Given the description of an element on the screen output the (x, y) to click on. 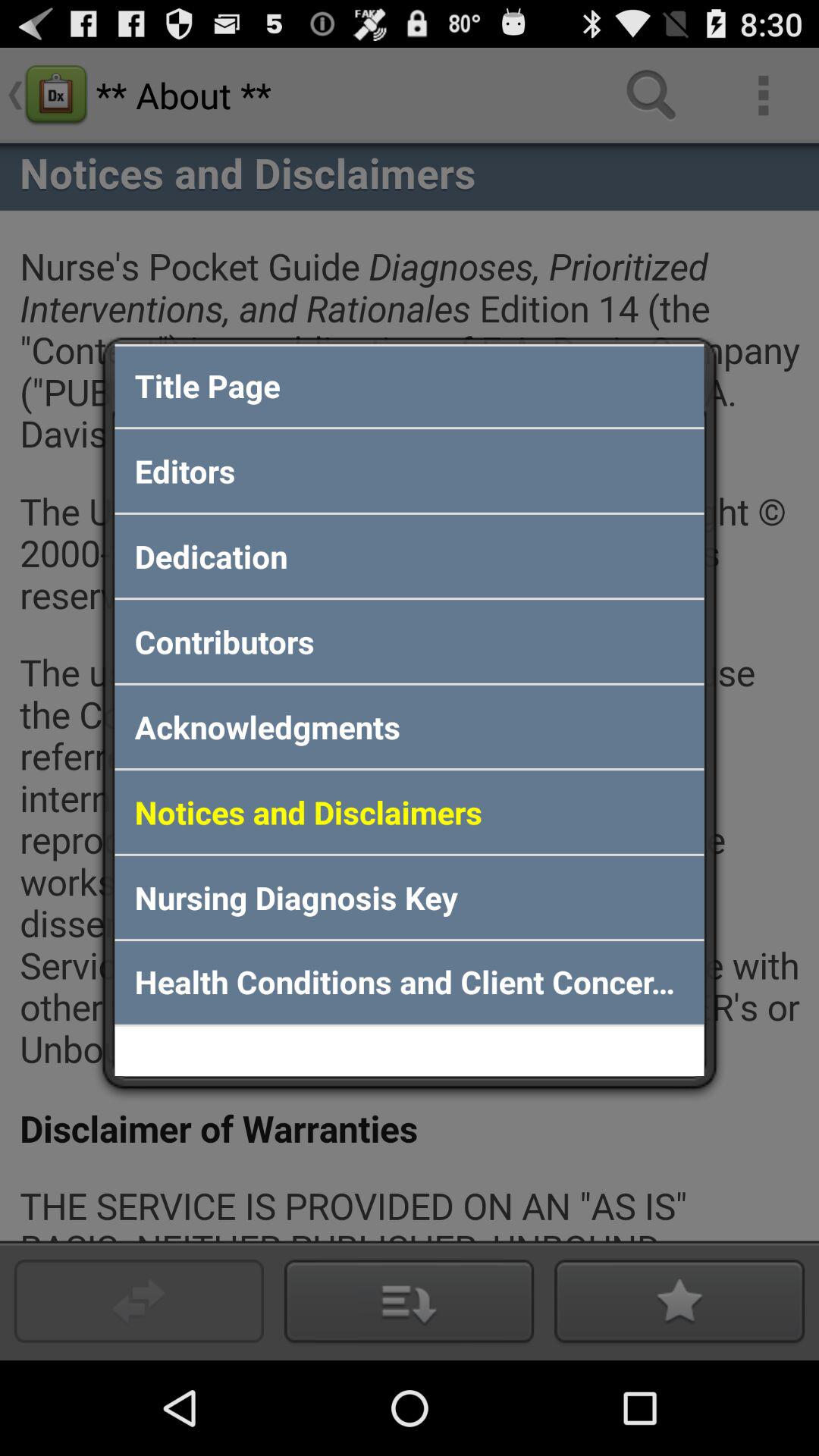
press the item at the bottom (409, 982)
